Given the description of an element on the screen output the (x, y) to click on. 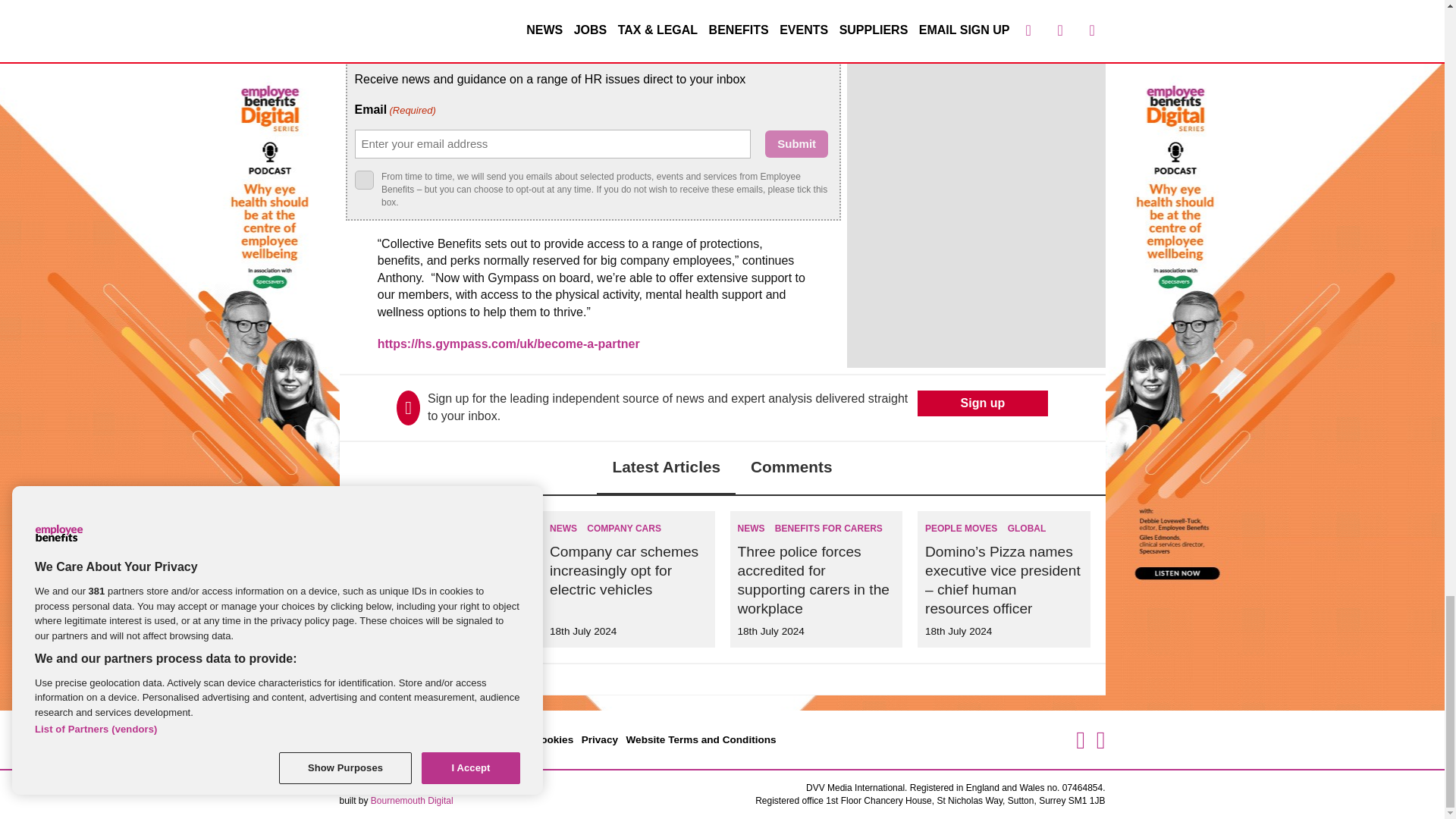
Submit (796, 144)
Comments (791, 468)
Latest Articles (665, 468)
NEWS (376, 528)
yes (364, 179)
Submit (796, 144)
